Given the description of an element on the screen output the (x, y) to click on. 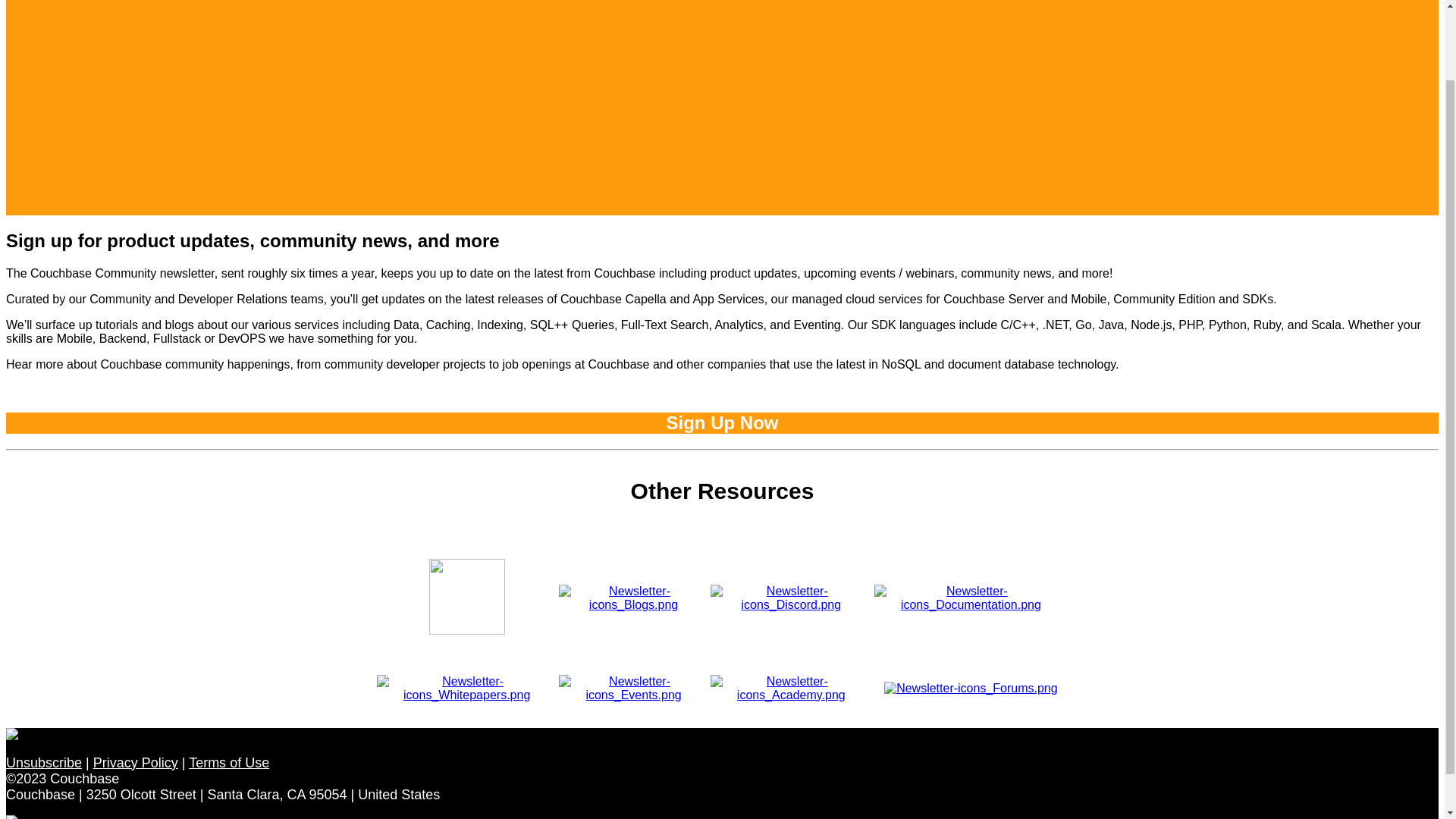
Unsubscribe (43, 762)
Privacy Policy (135, 762)
